Given the description of an element on the screen output the (x, y) to click on. 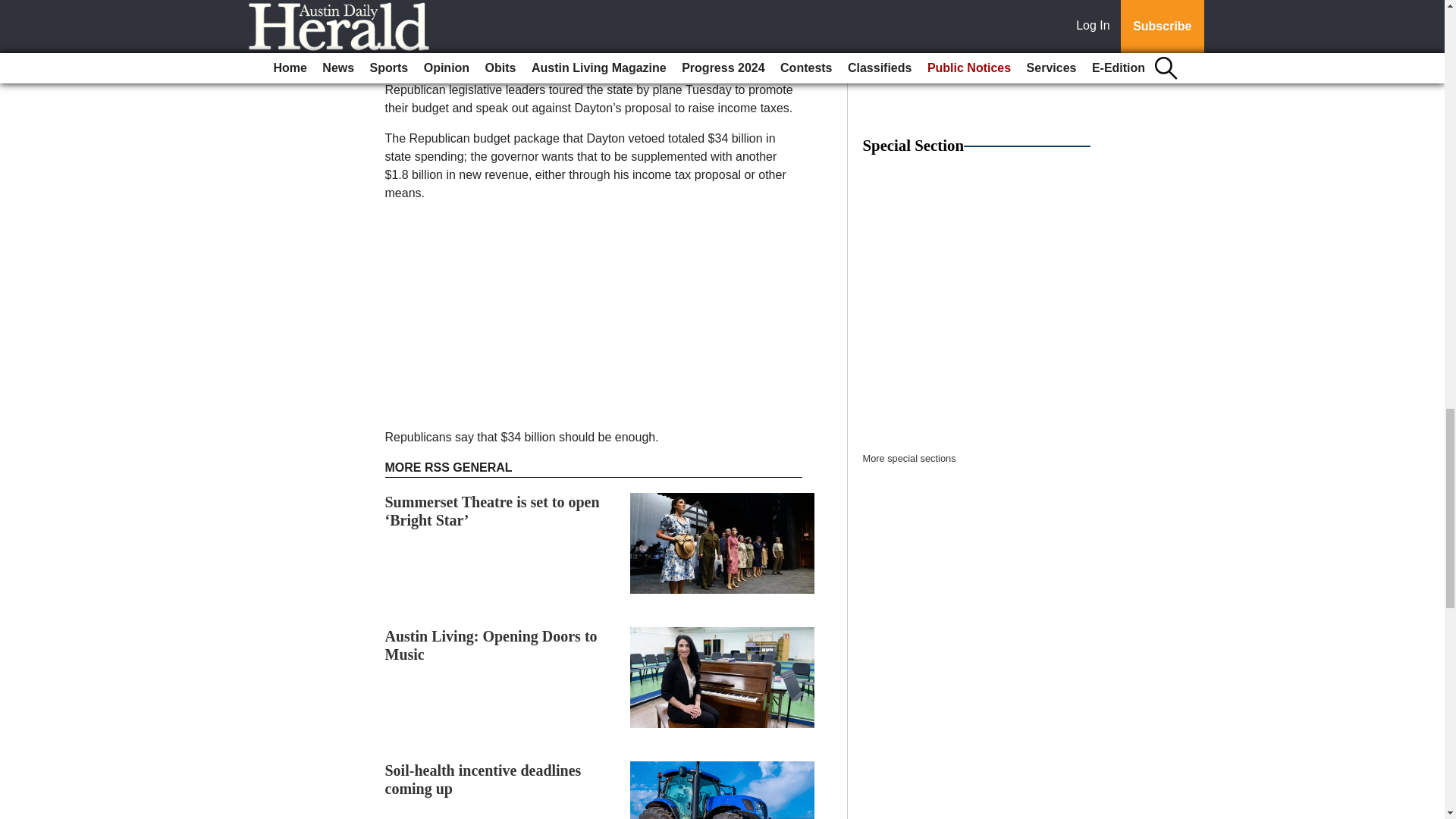
Austin Living: Opening Doors to Music (490, 645)
Soil-health incentive deadlines coming up (482, 779)
